Given the description of an element on the screen output the (x, y) to click on. 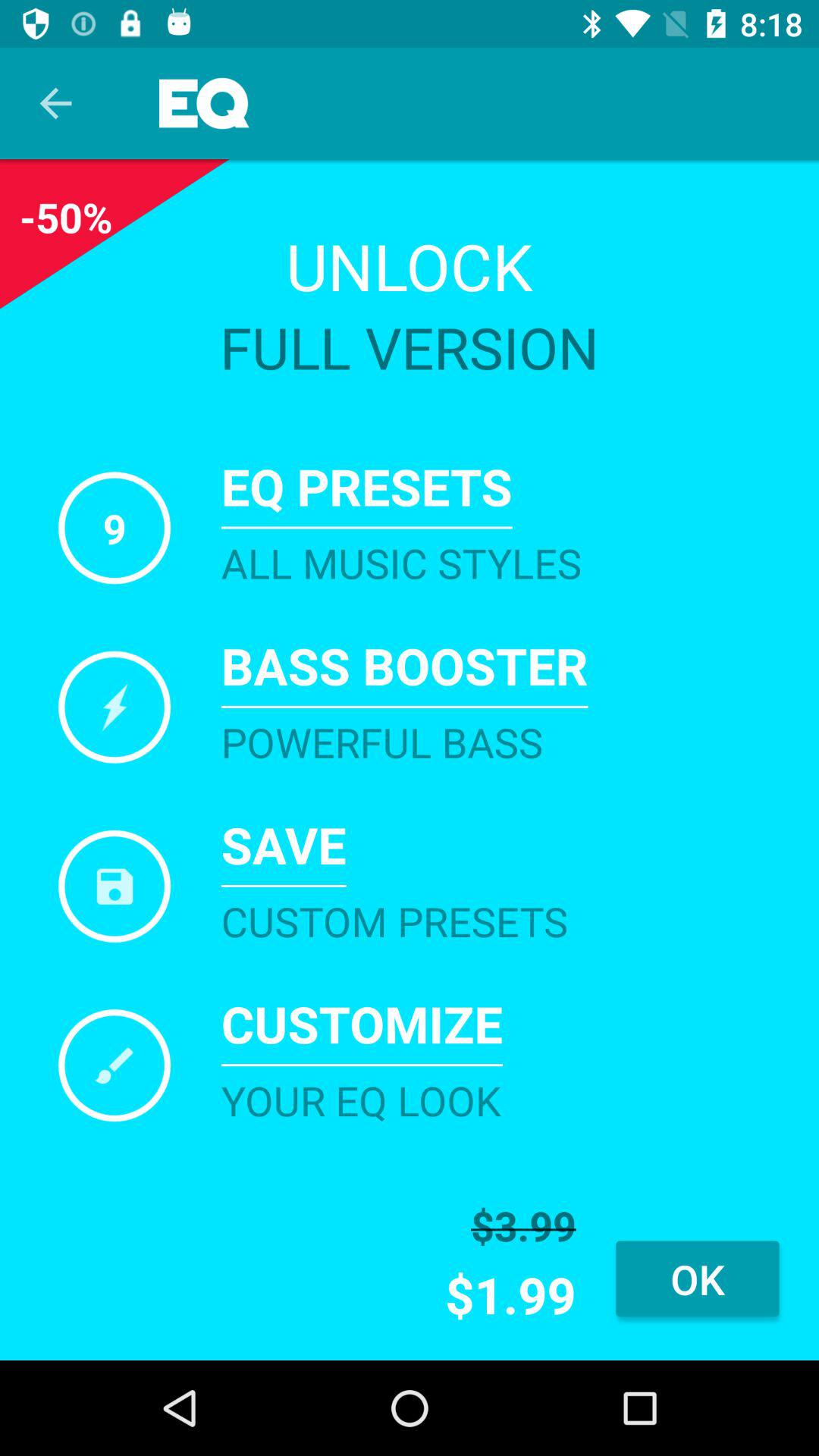
launch the item at the bottom right corner (697, 1278)
